Given the description of an element on the screen output the (x, y) to click on. 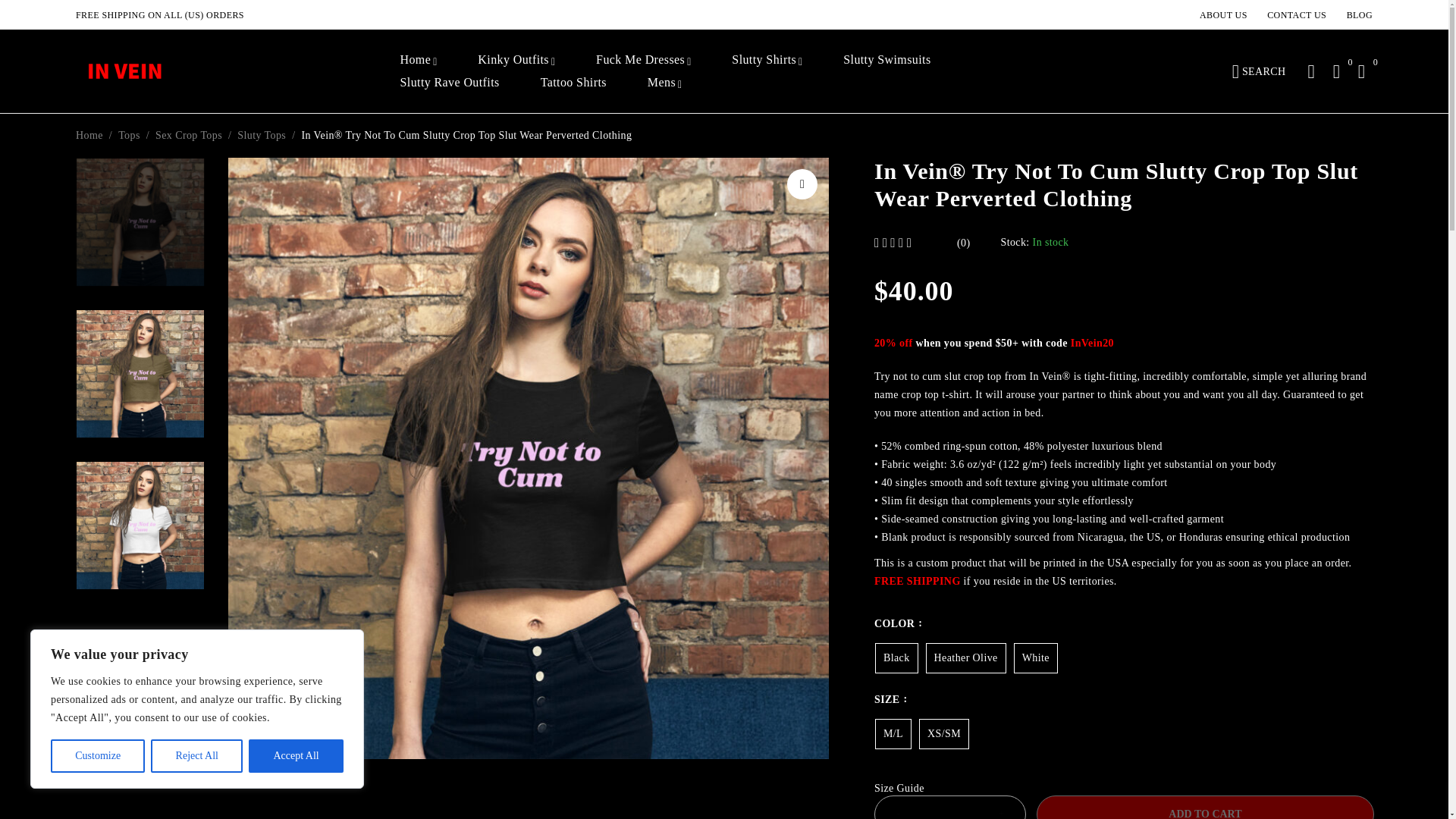
Accept All (295, 756)
ABOUT US (1223, 15)
BLOG (1359, 15)
Reject All (197, 756)
CONTACT US (1296, 15)
- (899, 807)
In Vein (126, 70)
1 (950, 807)
Home (415, 59)
Customize (97, 756)
